Given the description of an element on the screen output the (x, y) to click on. 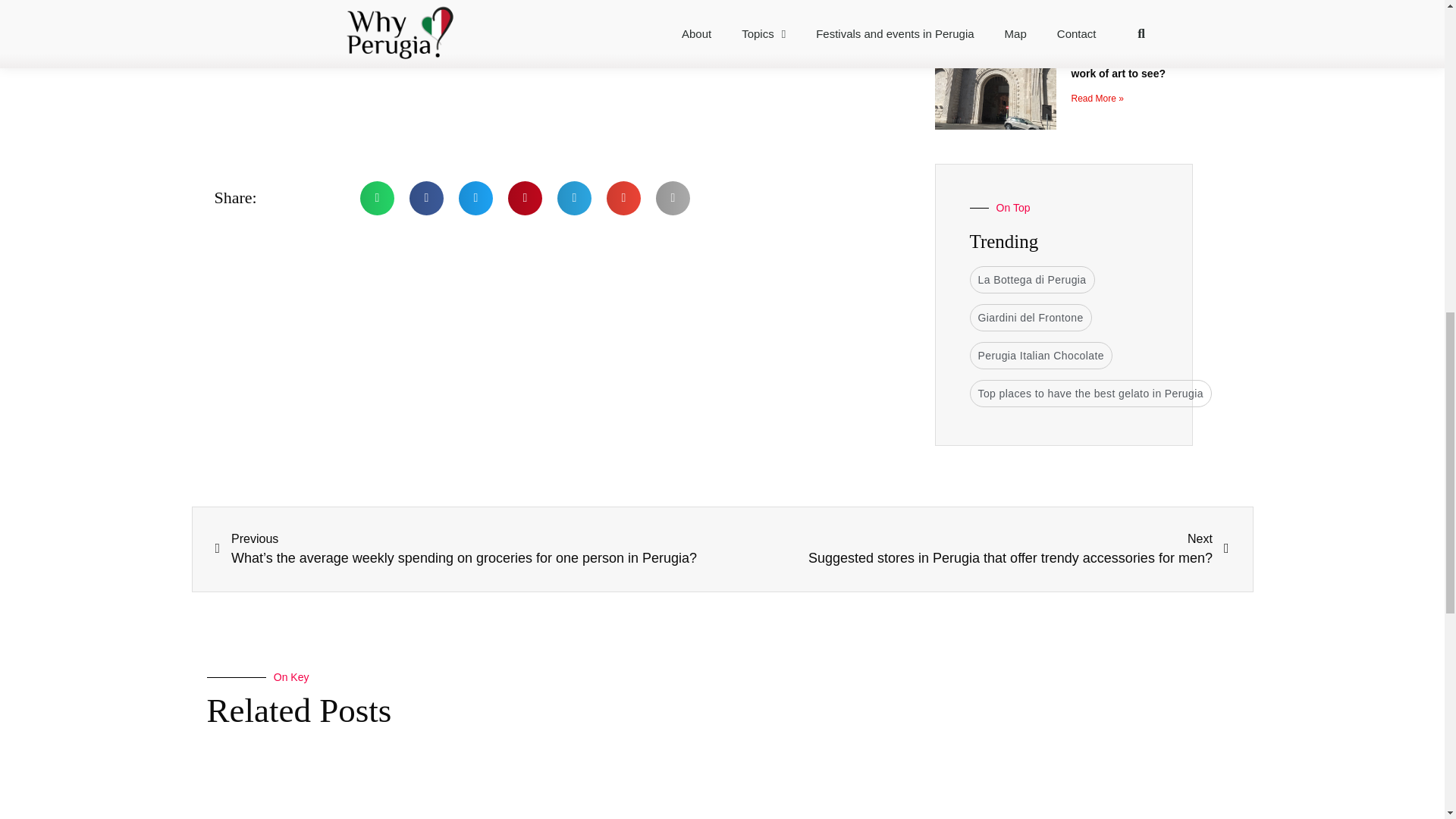
Perugia, Italia (513, 60)
